Given the description of an element on the screen output the (x, y) to click on. 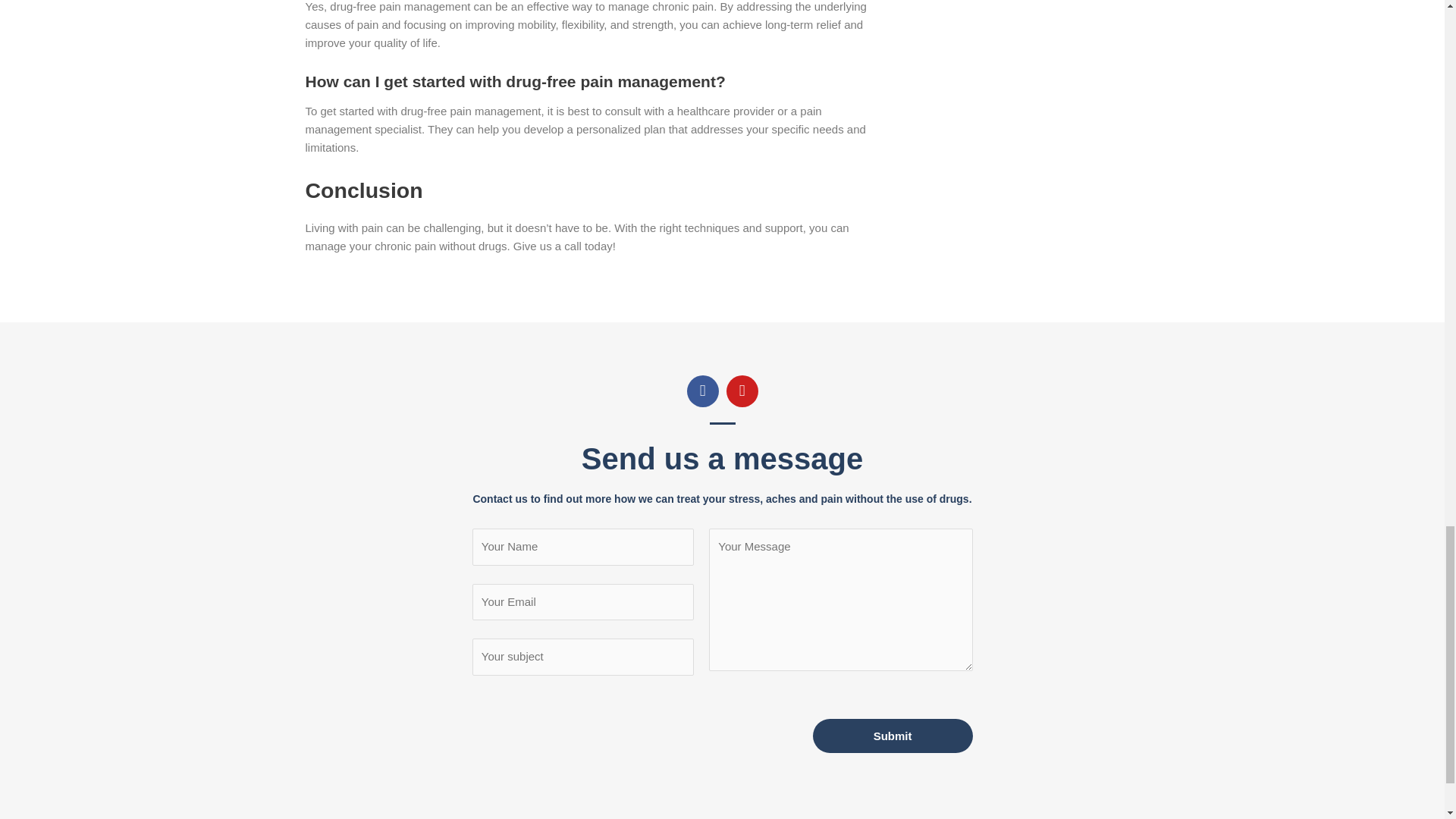
Submit (892, 735)
